Given the description of an element on the screen output the (x, y) to click on. 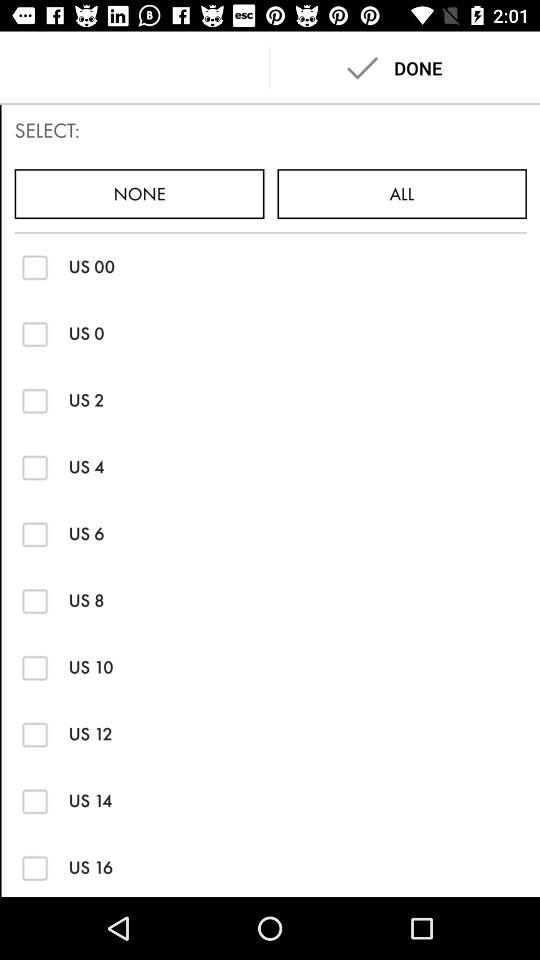
select list option (34, 867)
